Given the description of an element on the screen output the (x, y) to click on. 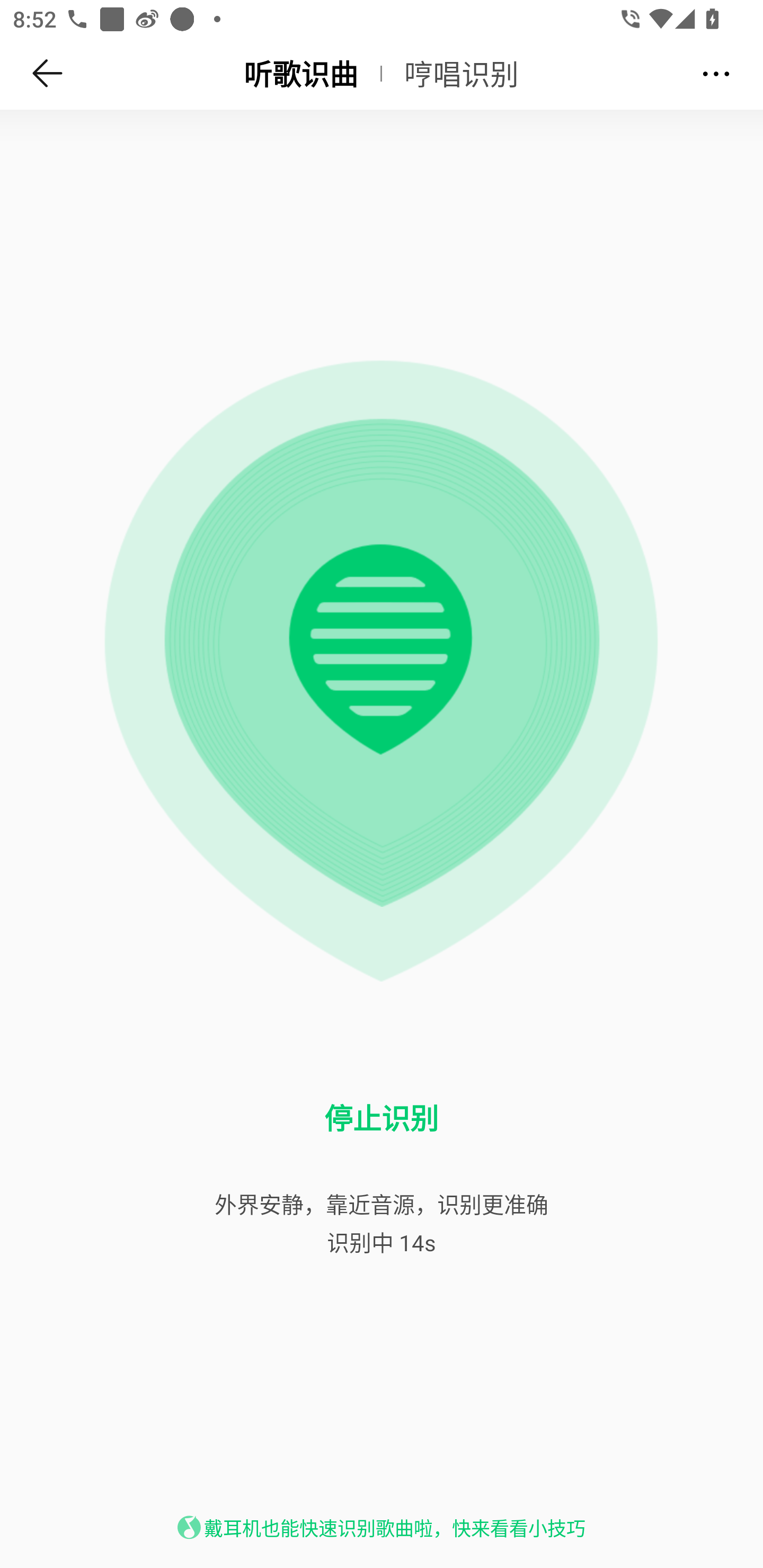
返回 (47, 73)
更多 (715, 73)
听歌识曲 (300, 73)
哼唱识别 (461, 73)
停止识别 (381, 1117)
外界安静，靠近音源，识别更准确 (381, 1203)
戴耳机也能快速识别歌曲啦，快来看看小技巧 (394, 1527)
